Given the description of an element on the screen output the (x, y) to click on. 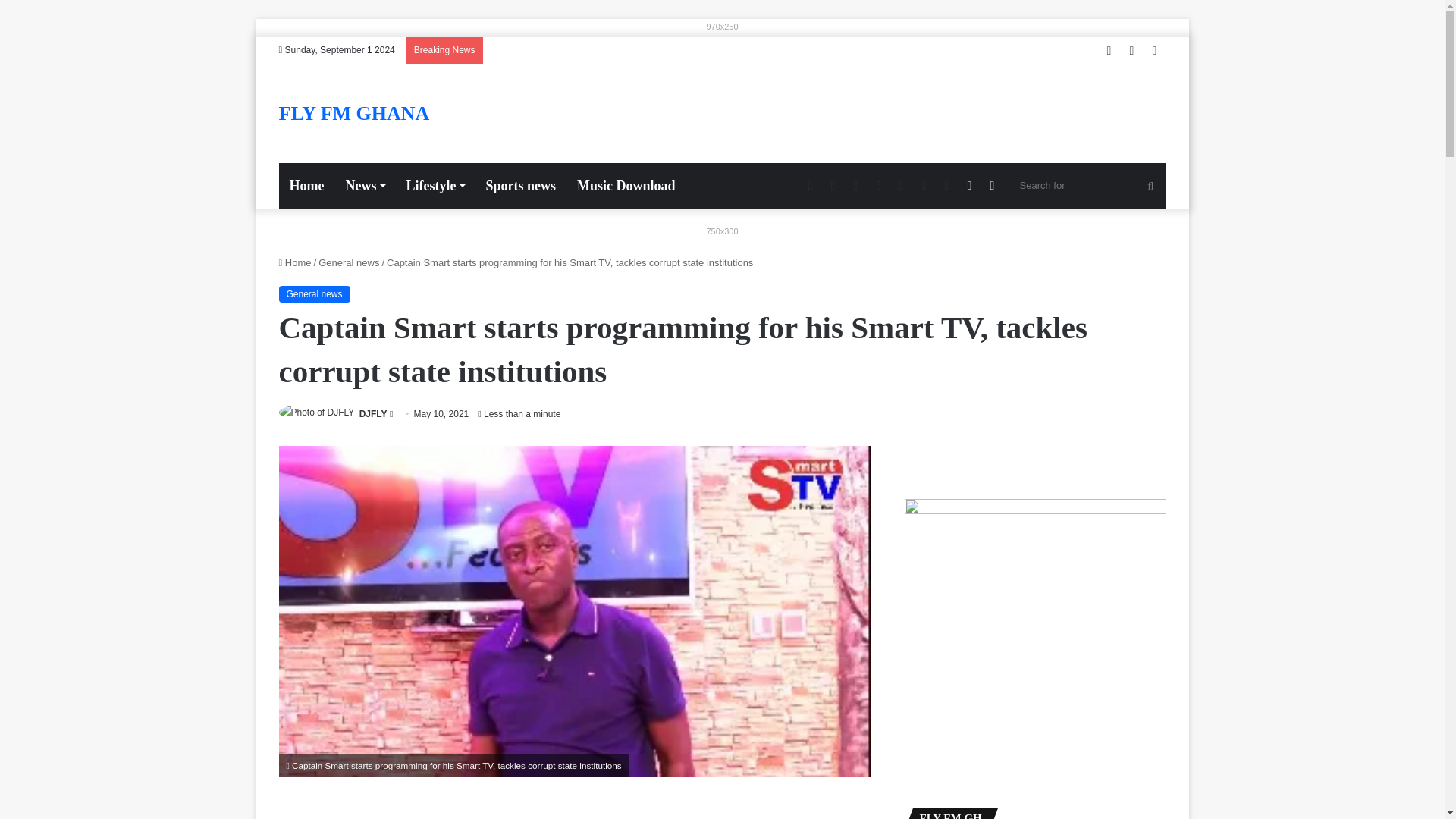
Lifestyle (434, 185)
DJFLY (373, 413)
Sports news (520, 185)
Music Download (625, 185)
Home (306, 185)
News (364, 185)
Search for (1088, 185)
FLY FM GHANA (354, 113)
FLY FM GHANA (354, 113)
